Given the description of an element on the screen output the (x, y) to click on. 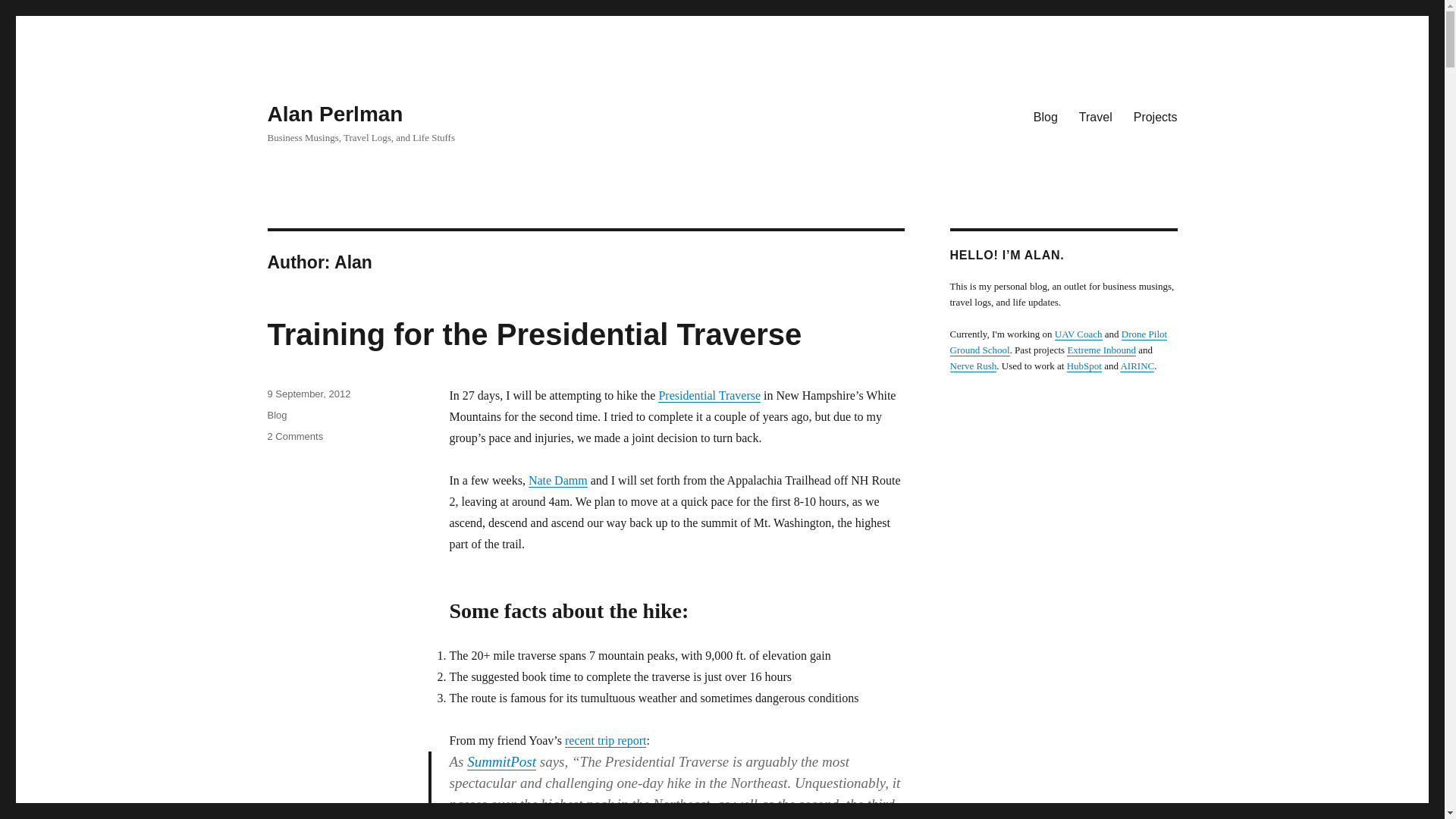
Blog (276, 414)
SummitPost (501, 761)
Blog (1045, 116)
Alan Perlman (334, 114)
Training for the Presidential Traverse (534, 334)
Nate Damm (558, 480)
recent trip report (605, 739)
9 September, 2012 (308, 393)
Presidential Traverse (709, 395)
Travel (294, 436)
Projects (1095, 116)
